Given the description of an element on the screen output the (x, y) to click on. 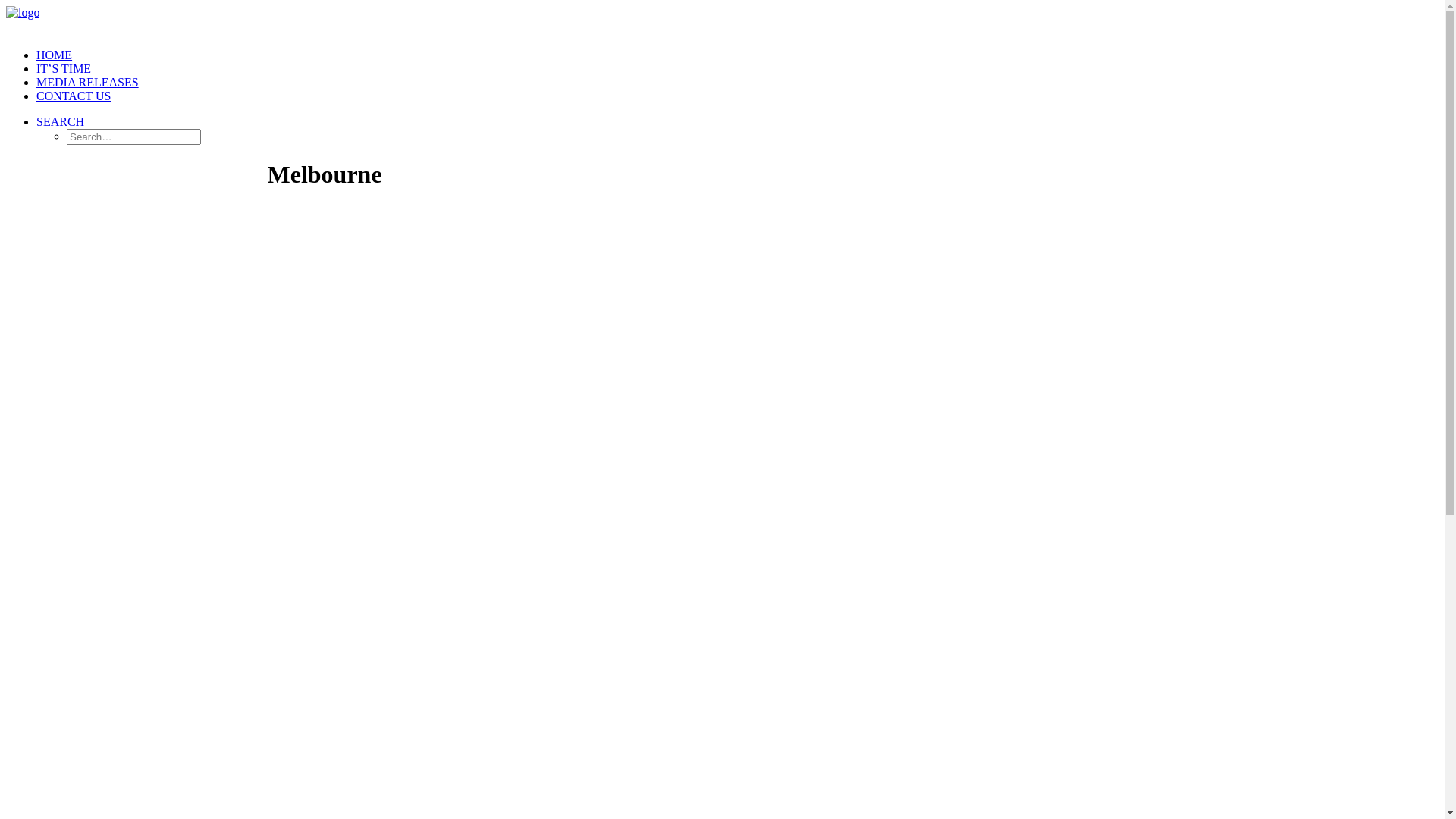
CONTACT US Element type: text (73, 95)
MEDIA RELEASES Element type: text (87, 81)
HOME Element type: text (54, 54)
SEARCH Element type: text (60, 121)
Search for: Element type: hover (133, 136)
